Given the description of an element on the screen output the (x, y) to click on. 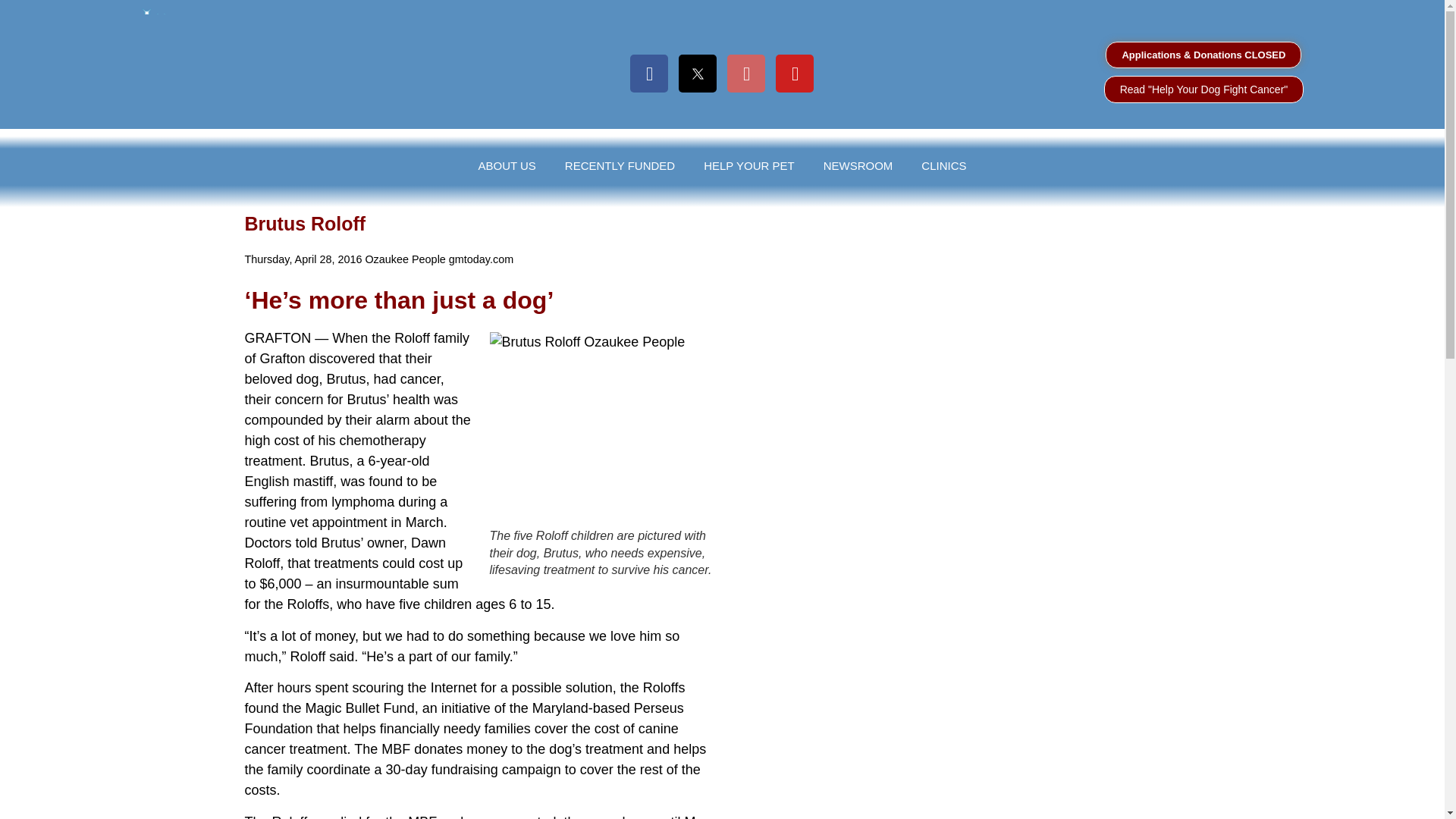
ABOUT US (506, 165)
CLINICS (943, 165)
Read "Help Your Dog Fight Cancer" (1203, 89)
HELP YOUR PET (749, 165)
NEWSROOM (858, 165)
RECENTLY FUNDED (619, 165)
